Given the description of an element on the screen output the (x, y) to click on. 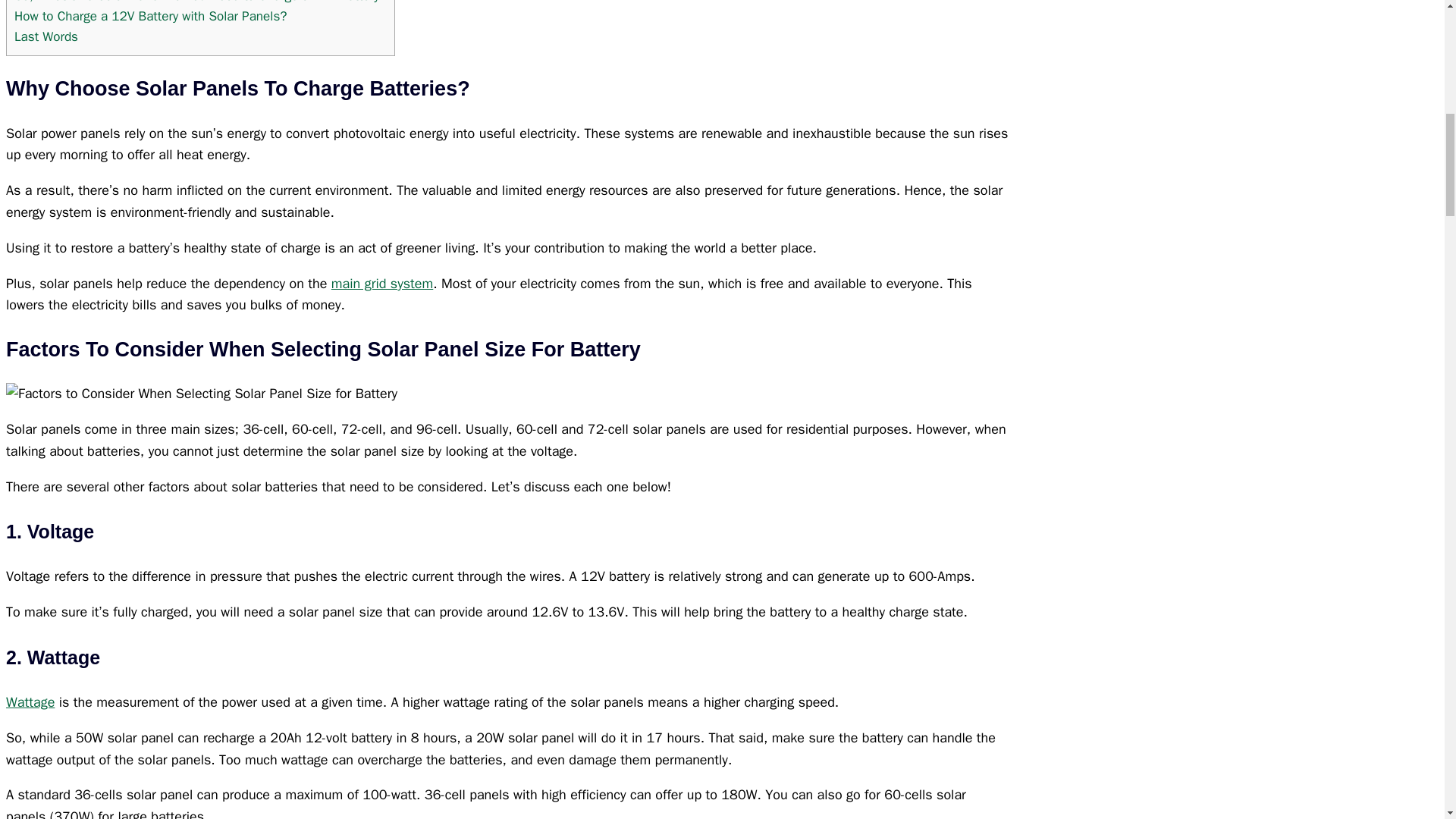
main grid system (381, 283)
How to Charge a 12V Battery with Solar Panels? (150, 16)
Wattage (30, 701)
Last Words (46, 36)
